Given the description of an element on the screen output the (x, y) to click on. 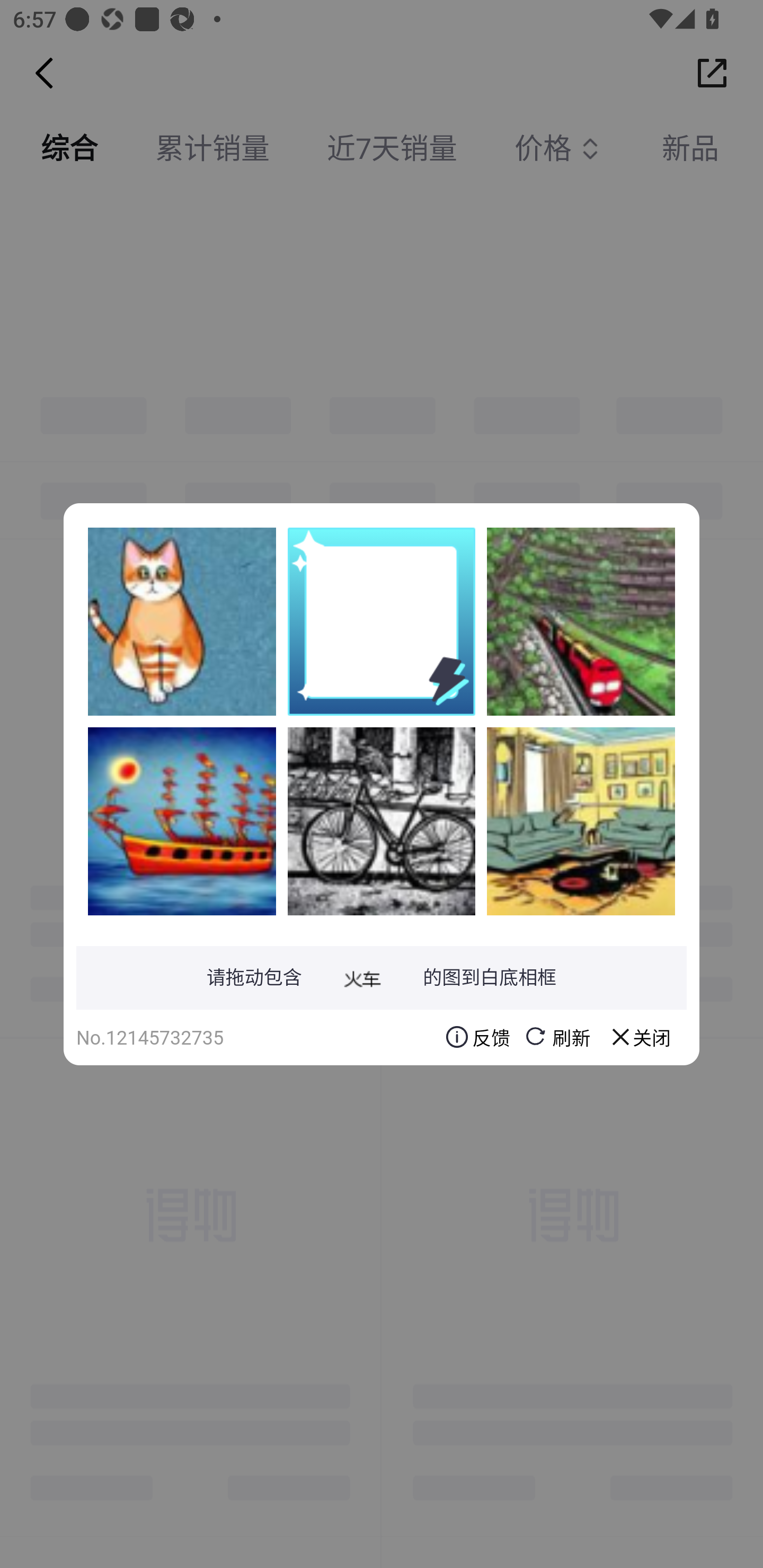
B4FSSAGOA2DdALOs+m4iuMx (181, 621)
R+6XvXPydk+DOCbr8jUp4RI+ocee0TPE (181, 820)
zQ (381, 820)
Ebz2rJdCvKwl (580, 820)
